Given the description of an element on the screen output the (x, y) to click on. 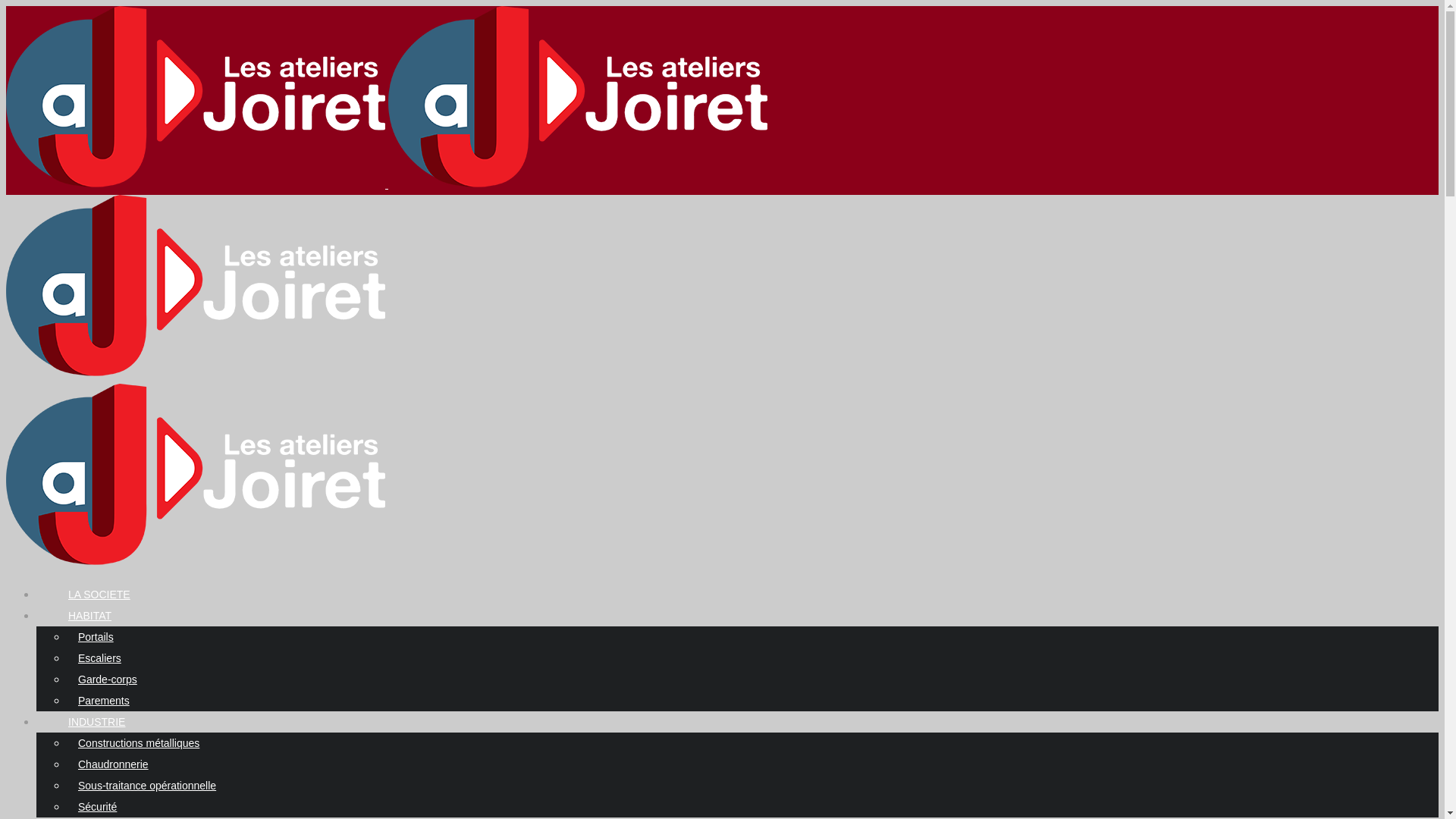
Portails Element type: text (95, 636)
HABITAT Element type: text (89, 615)
Chaudronnerie Element type: text (113, 764)
INDUSTRIE Element type: text (96, 721)
Escaliers Element type: text (99, 658)
LA SOCIETE Element type: text (99, 594)
Parements Element type: text (103, 700)
Garde-corps Element type: text (107, 679)
